Given the description of an element on the screen output the (x, y) to click on. 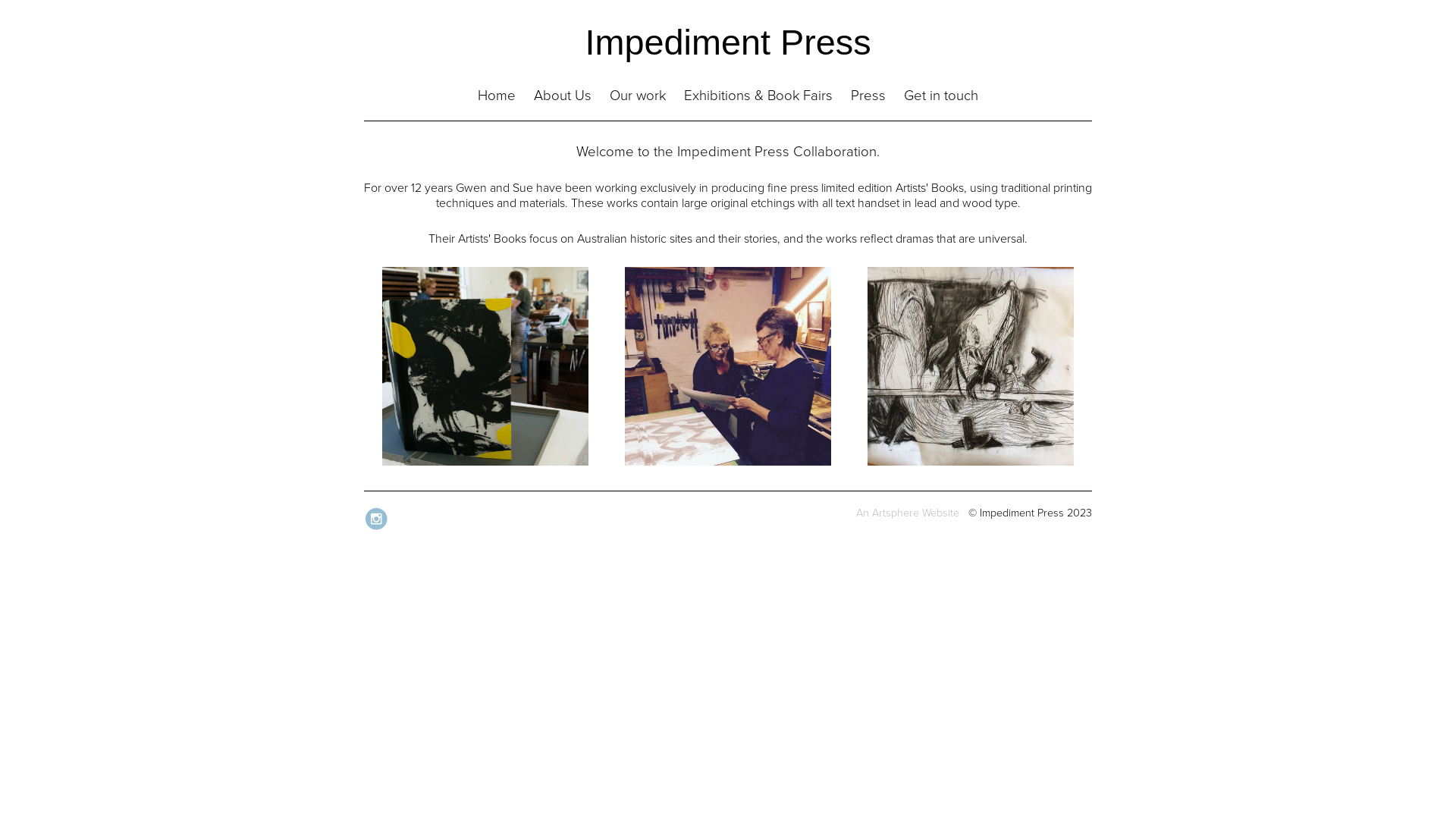
Phantomwise Flew the Black Cockatoo Element type: hover (485, 461)
Exhibitions & Book Fairs Element type: text (758, 95)
Home Element type: text (496, 95)
Our work Element type: text (637, 95)
About Us Element type: text (562, 95)
An Artsphere Website Element type: text (907, 512)
Our Work Element type: hover (970, 461)
Get in touch Element type: text (940, 95)
Press Element type: text (867, 95)
Instagram Element type: hover (377, 529)
About Us Element type: hover (727, 461)
